Given the description of an element on the screen output the (x, y) to click on. 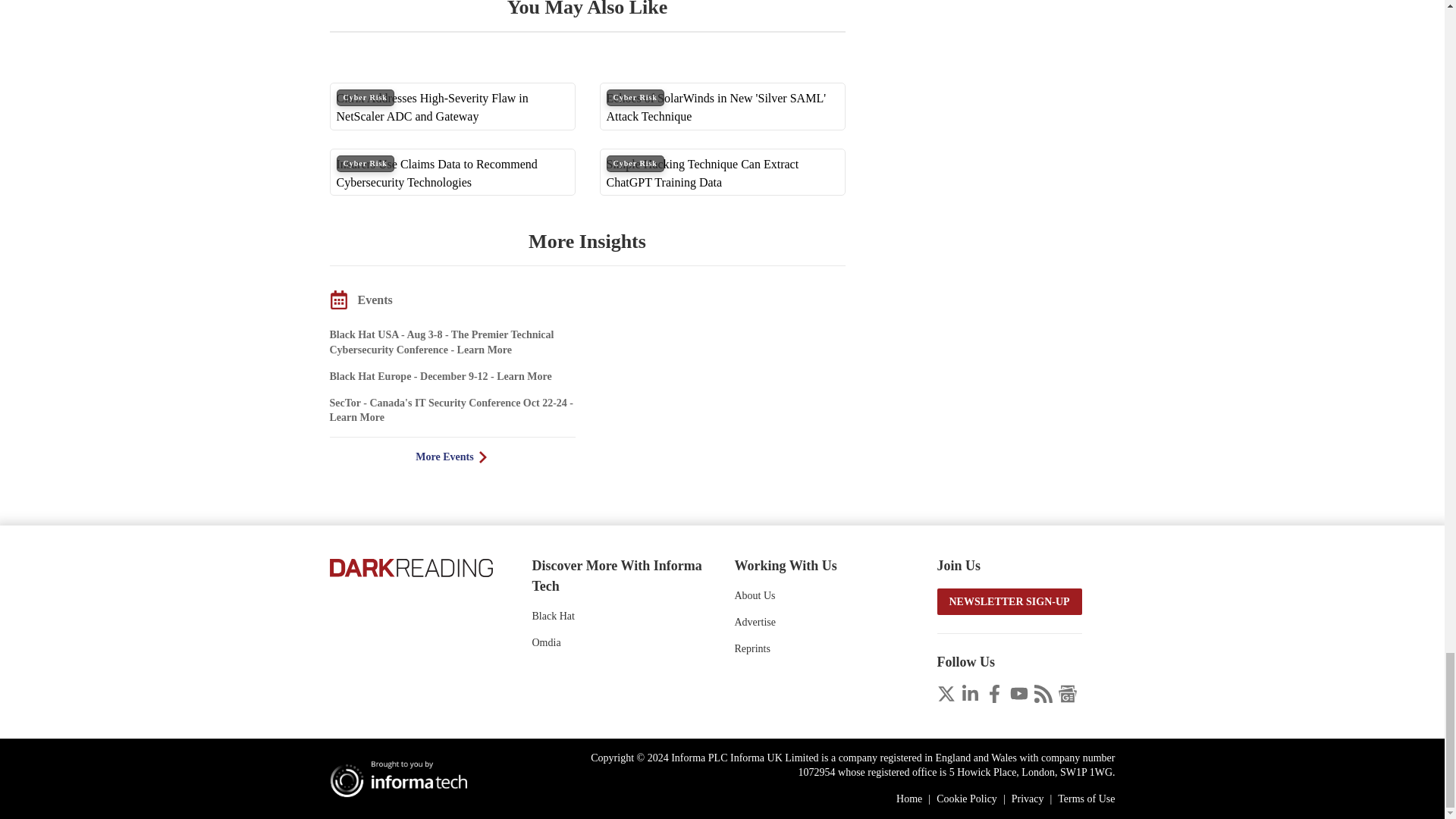
Logo (410, 566)
Informa Tech (404, 778)
